Given the description of an element on the screen output the (x, y) to click on. 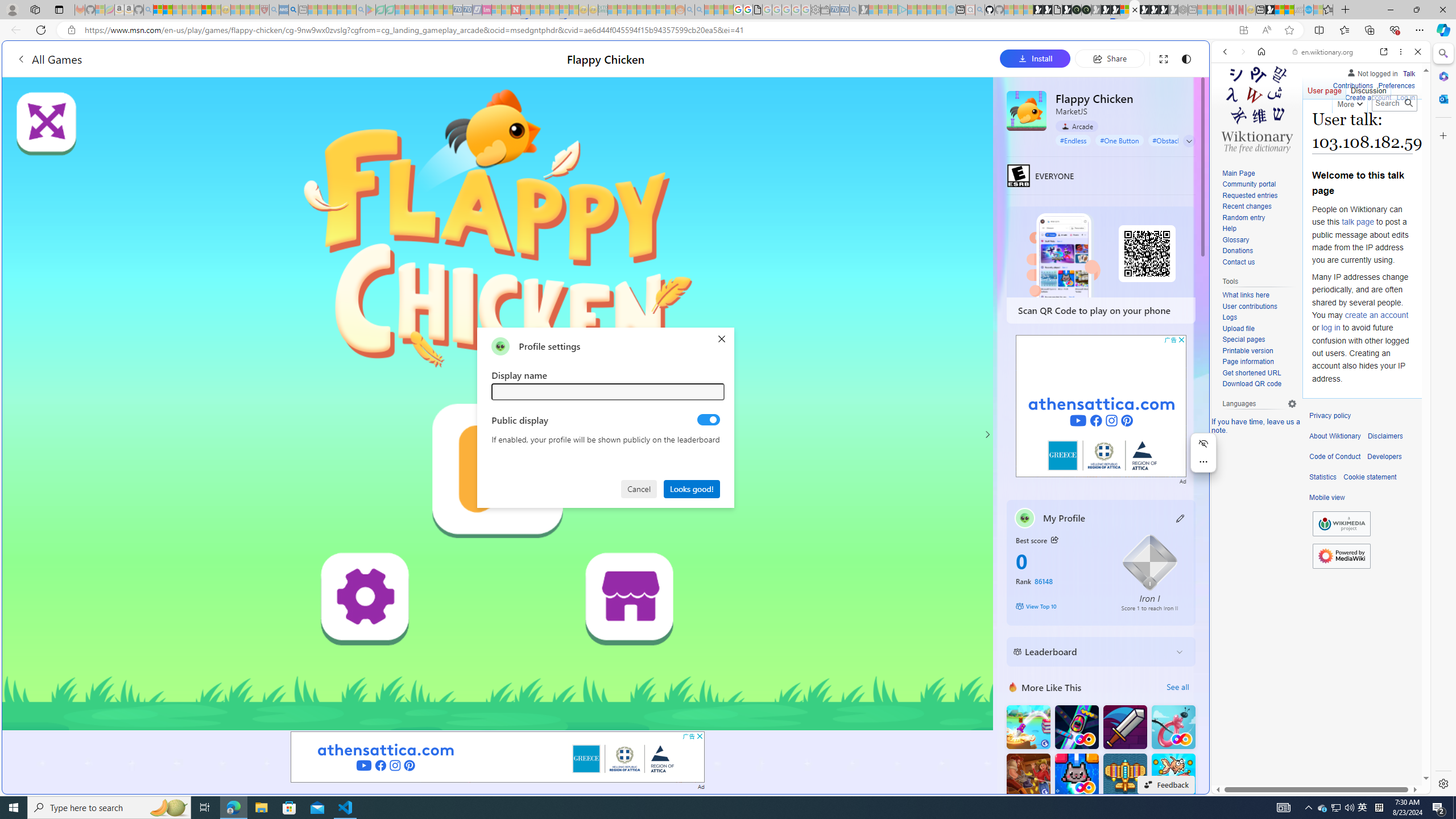
Upload file (1259, 328)
Disclaimers (1385, 436)
World - MSN (1279, 9)
Special pages (1243, 339)
Cookie statement (1369, 477)
The Weather Channel - MSN - Sleeping (177, 9)
Hide menu (1203, 443)
Recent changes (1259, 206)
Microsoft Start Gaming - Sleeping (863, 9)
Random entry (1259, 218)
Search Filter, VIDEOS (1300, 129)
Saloon Robbery (1028, 775)
Kinda Frugal - MSN - Sleeping (651, 9)
